Given the description of an element on the screen output the (x, y) to click on. 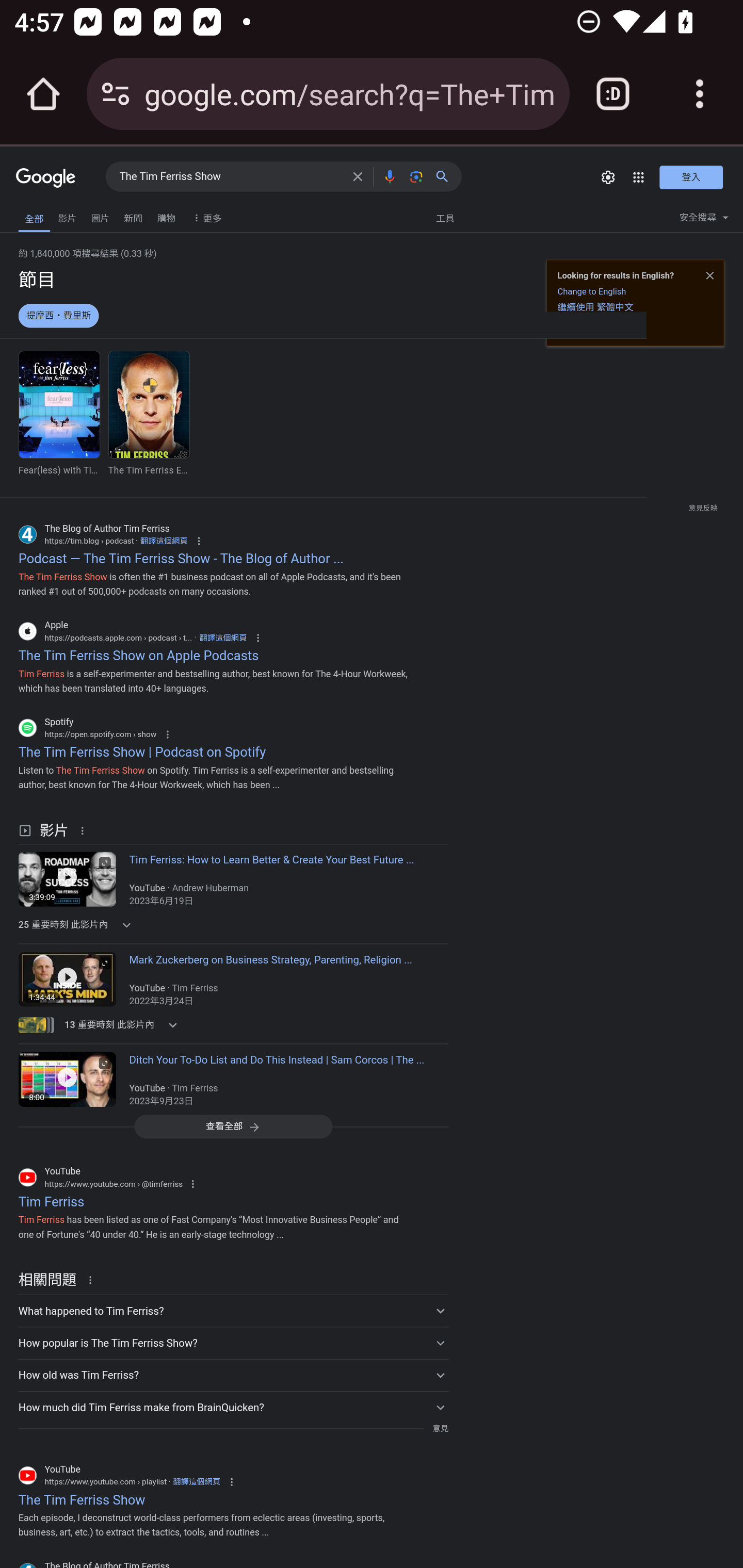
Open the home page (43, 93)
Connection is secure (115, 93)
Switch or close tabs (612, 93)
Customize and control Google Chrome (699, 93)
 清除 (357, 176)
語音搜尋 (389, 176)
以圖搜尋 (415, 176)
搜尋  (446, 176)
設定 (608, 176)
Google 應用程式 (638, 176)
登入 (690, 176)
Google (45, 178)
The Tim Ferriss Show (229, 177)
無障礙功能意見 (42, 212)
影片 (67, 216)
圖片 (99, 216)
新聞 (133, 216)
購物 (166, 216)
更多 (205, 216)
安全搜尋 (703, 219)
工具 (444, 216)
Change to English (591, 291)
繼續使用 繁體中文 繼續使用  繁體中文 (595, 306)
提摩西・費里斯 (57, 316)
語言設定 (576, 328)
Fear(less) with Tim Ferriss (58, 412)
The Tim Ferriss Experiment (148, 412)
意見反映 (702, 506)
翻譯這個網頁 (163, 540)
翻譯這個網頁 (223, 637)
關於此結果 (85, 830)
25 重要時刻  此影片內 (123, 923)
13 重要時刻  此影片內 (123, 1024)
查看全部 (233, 1126)
關於此結果 (93, 1279)
What happened to Tim Ferriss? (232, 1310)
How popular is The Tim Ferriss Show? (232, 1342)
How old was Tim Ferriss? (232, 1374)
How much did Tim Ferriss make from BrainQuicken? (232, 1406)
意見 (439, 1428)
翻譯這個網頁 (196, 1481)
